Given the description of an element on the screen output the (x, y) to click on. 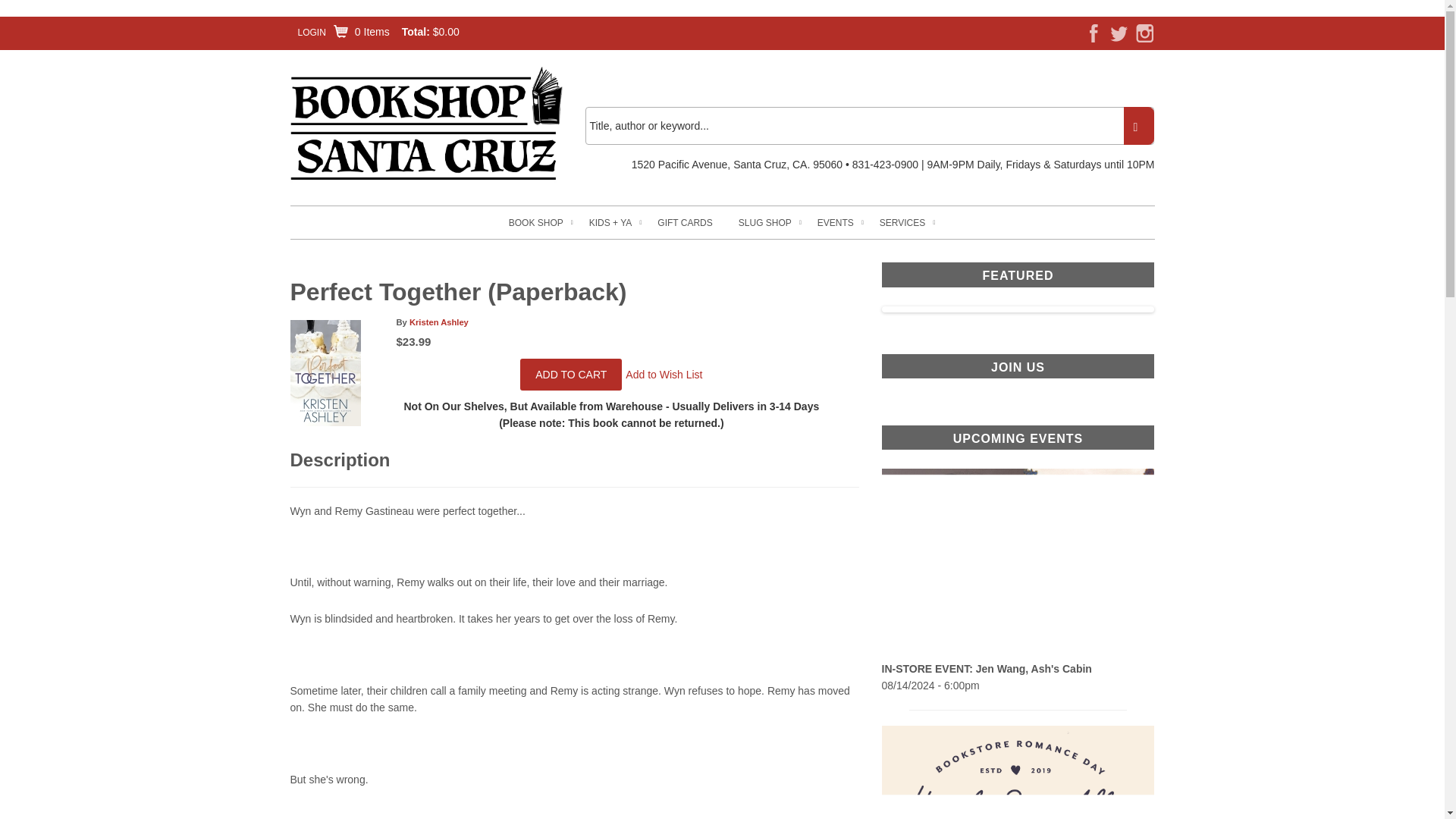
LOGIN (311, 32)
BOOK SHOP (535, 222)
Title, author or keyword... (869, 125)
Home (425, 124)
Add to Cart (570, 374)
